Given the description of an element on the screen output the (x, y) to click on. 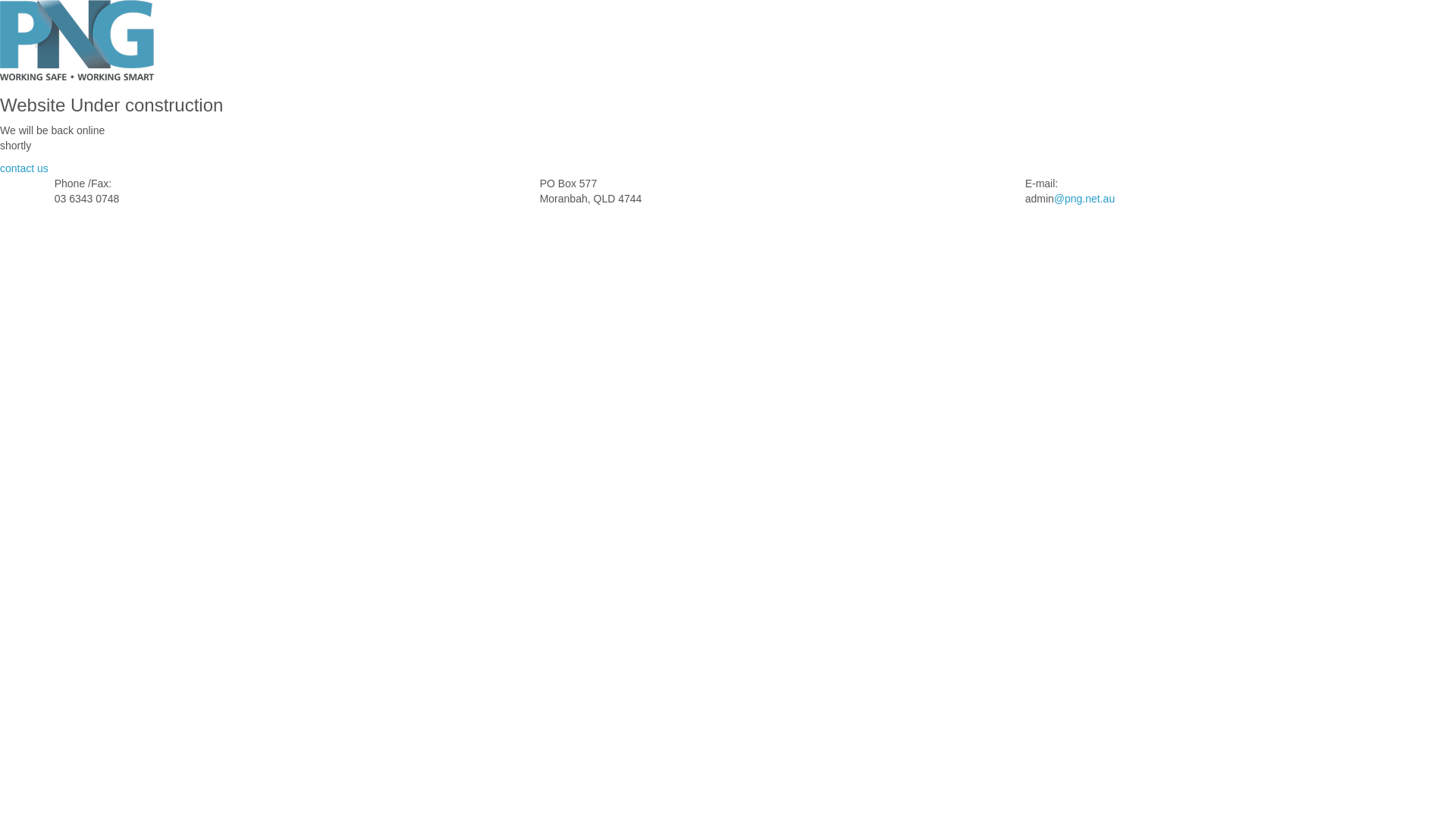
contact us Element type: text (24, 168)
@png.net.au Element type: text (1084, 198)
